Given the description of an element on the screen output the (x, y) to click on. 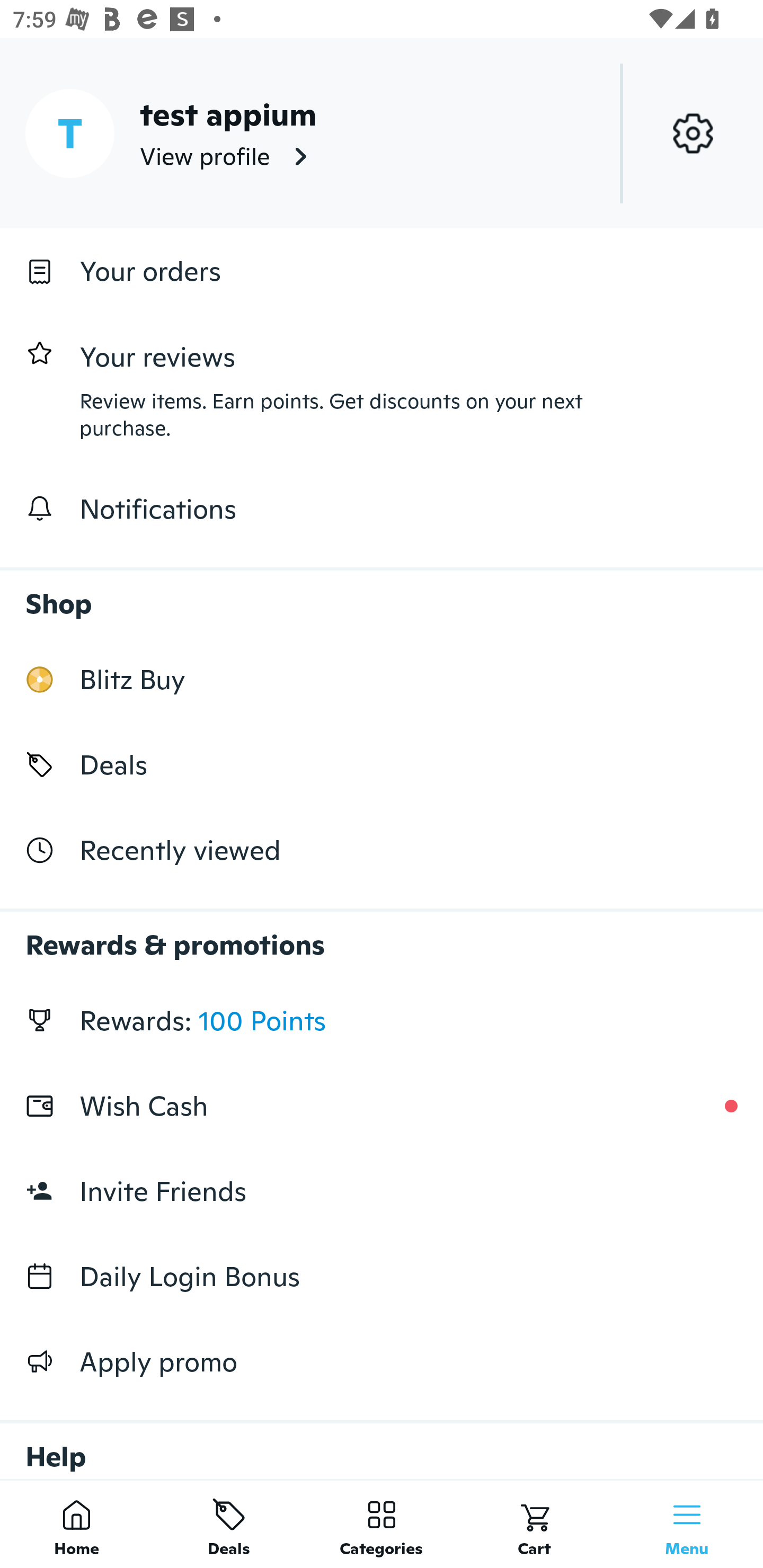
T test appium View profile (381, 132)
Your orders (381, 270)
Notifications (381, 508)
Shop (381, 593)
Blitz Buy (381, 679)
Deals (381, 764)
Recently viewed (381, 850)
Rewards & promotions (381, 935)
Rewards: 100 Points (381, 1020)
Wish Cash (381, 1106)
Invite Friends (381, 1190)
Daily Login Bonus (381, 1277)
Apply promo (381, 1361)
Help (381, 1441)
Home (76, 1523)
Deals (228, 1523)
Categories (381, 1523)
Cart (533, 1523)
Menu (686, 1523)
